Given the description of an element on the screen output the (x, y) to click on. 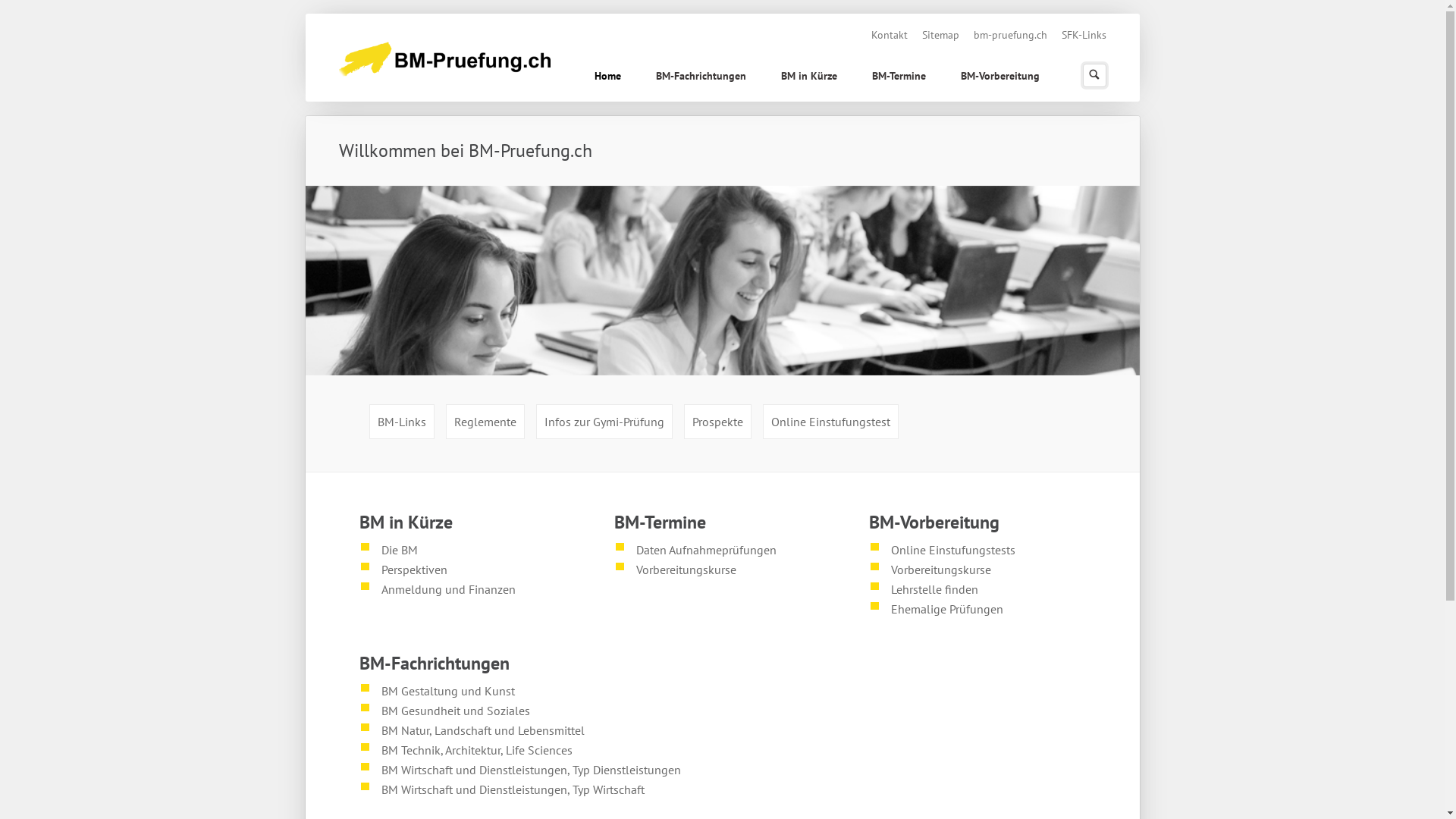
Perspektiven Element type: text (414, 569)
Home Element type: text (607, 77)
  Element type: text (908, 403)
  Element type: text (1038, 61)
Online Einstufungstests Element type: text (953, 549)
  Element type: text (1105, 24)
  Element type: text (874, 635)
BM Natur, Landschaft und Lebensmittel Element type: text (482, 729)
Sitemap Element type: text (940, 34)
bm-pruefung.ch Element type: text (1010, 34)
Kontakt Element type: text (888, 34)
Vorbereitungskurse Element type: text (941, 569)
BM Gestaltung und Kunst Element type: text (447, 690)
BM-Termine Element type: text (898, 77)
  Element type: text (364, 615)
BM-Vorbereitung Element type: text (999, 77)
BM Technik, Architektur, Life Sciences Element type: text (476, 749)
  Element type: text (364, 815)
  Element type: text (619, 596)
Die BM Element type: text (399, 549)
BM Wirtschaft und Dienstleistungen, Typ Wirtschaft Element type: text (512, 789)
Suchen Element type: text (1093, 75)
BM-Fachrichtungen Element type: text (700, 77)
BM Wirtschaft und Dienstleistungen, Typ Dienstleistungen Element type: text (530, 769)
SFK-Links Element type: text (1083, 34)
BM Gesundheit und Soziales Element type: text (455, 710)
Vorbereitungskurse Element type: text (686, 569)
Anmeldung und Finanzen Element type: text (448, 588)
Lehrstelle finden Element type: text (934, 588)
